Given the description of an element on the screen output the (x, y) to click on. 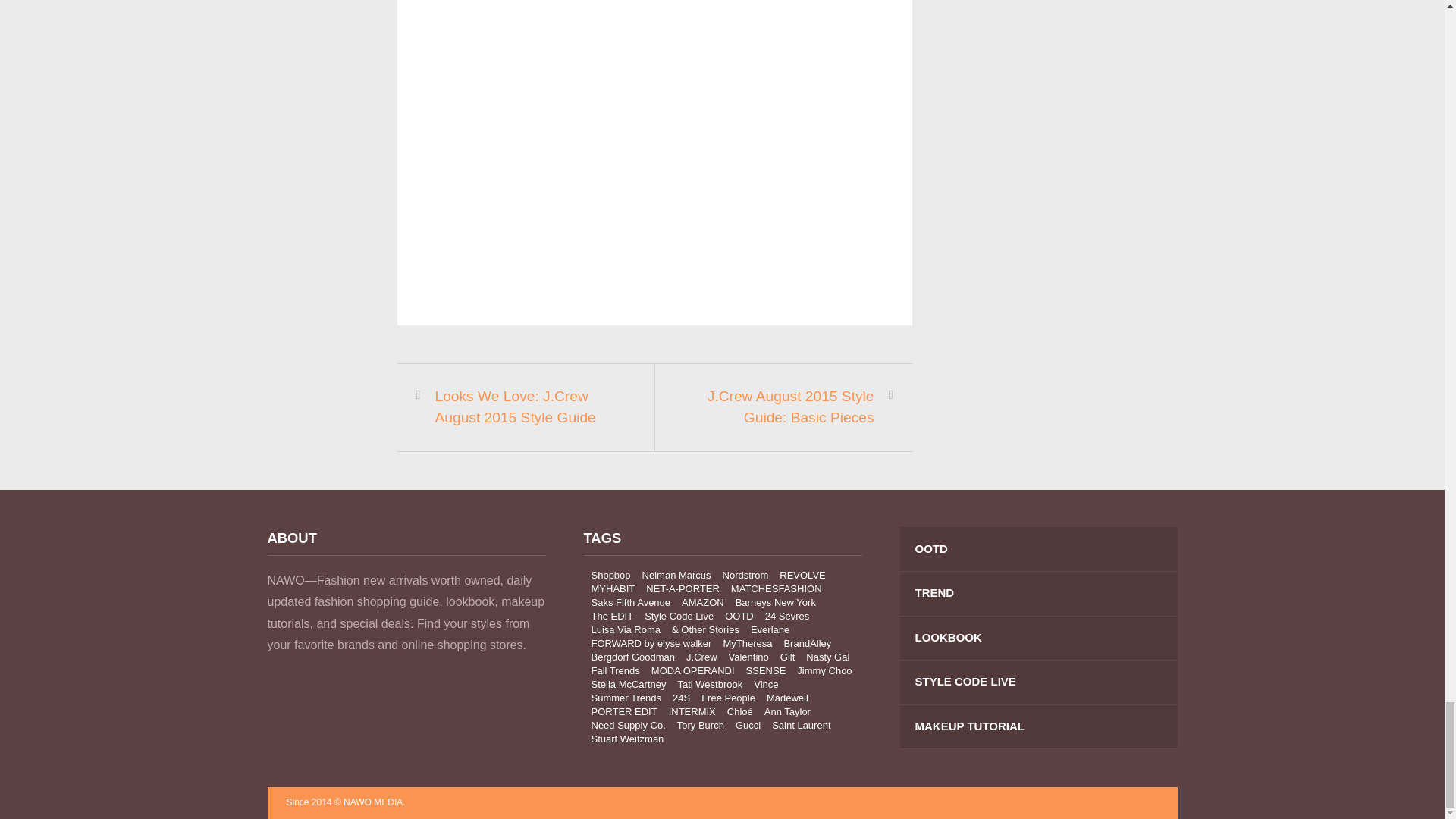
Previous (523, 407)
Next (786, 407)
